Given the description of an element on the screen output the (x, y) to click on. 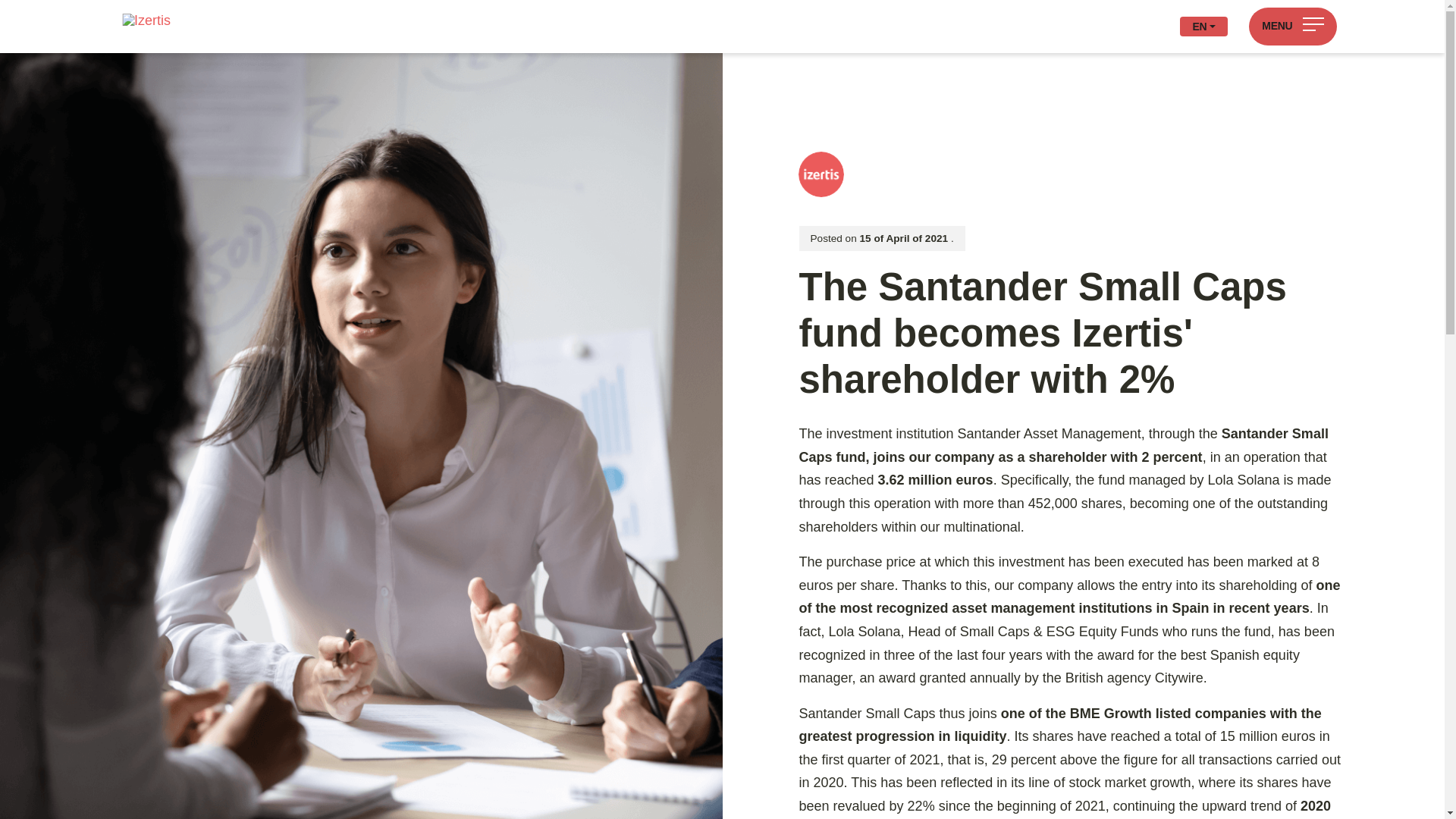
EN (1204, 26)
Go to Izertis (140, 19)
MENU (1292, 26)
